Given the description of an element on the screen output the (x, y) to click on. 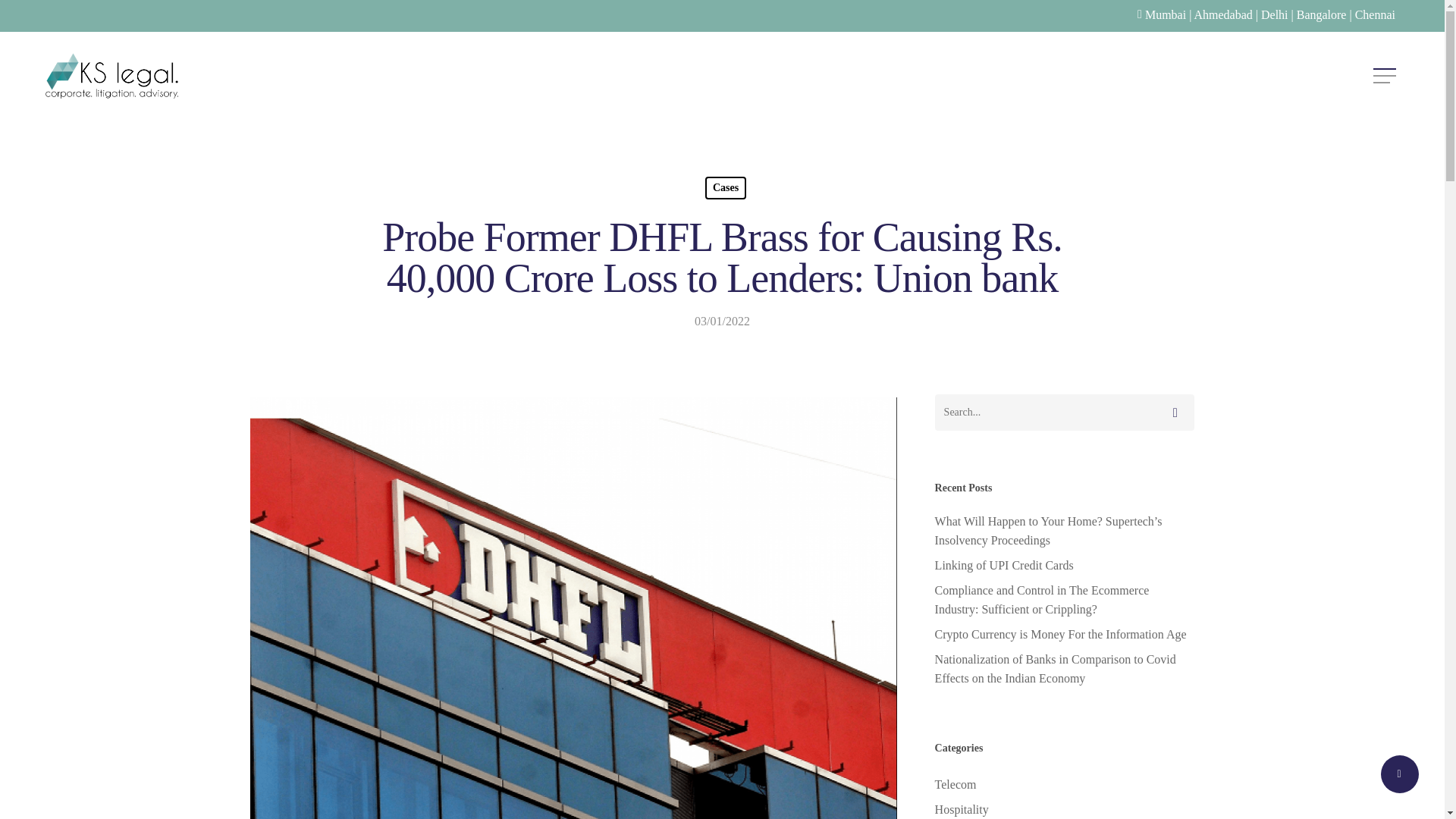
Hospitality (1063, 809)
Telecom (1063, 783)
Crypto Currency is Money For the Information Age (1063, 633)
Linking of UPI Credit Cards (1063, 565)
Cases (724, 187)
Search for: (1063, 411)
